Given the description of an element on the screen output the (x, y) to click on. 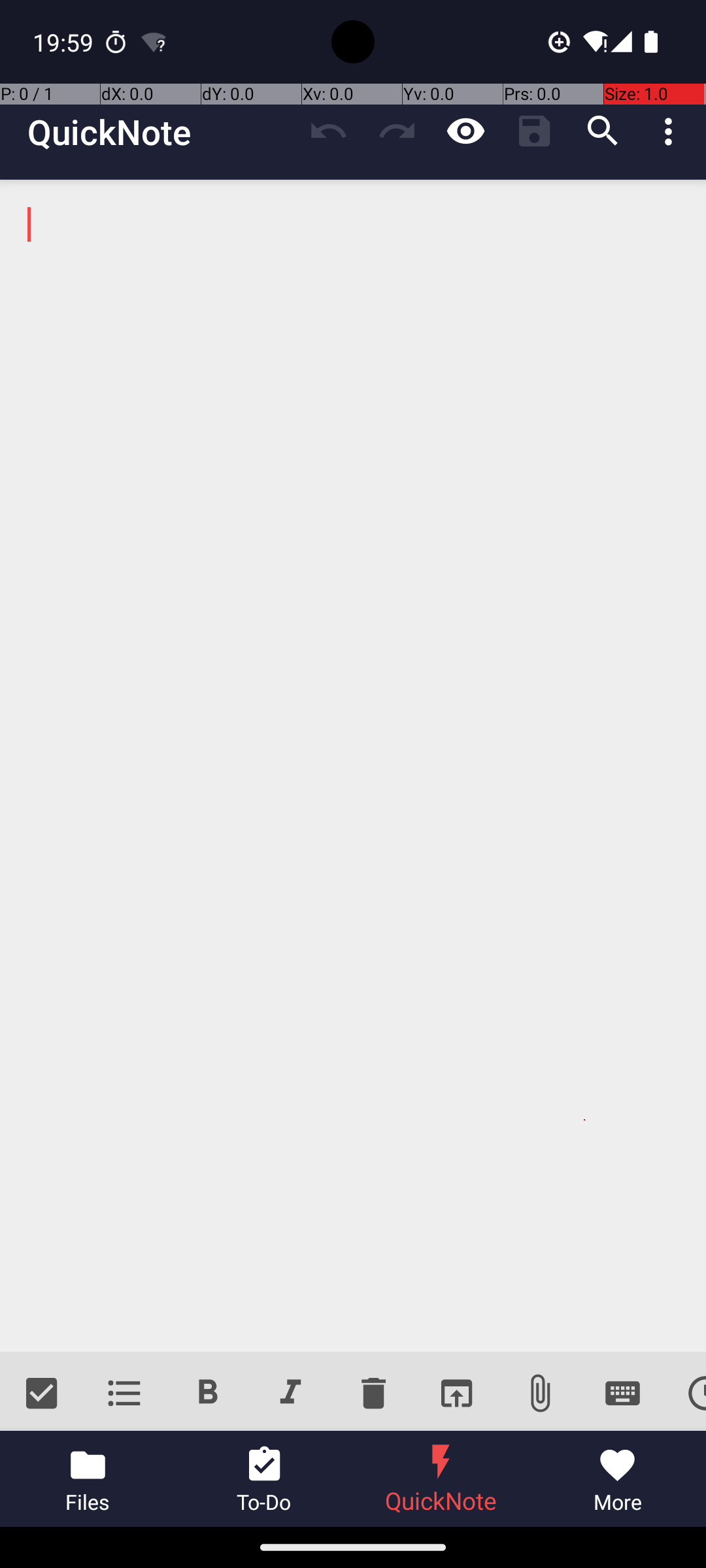
19:59 Element type: android.widget.TextView (64, 41)
